Given the description of an element on the screen output the (x, y) to click on. 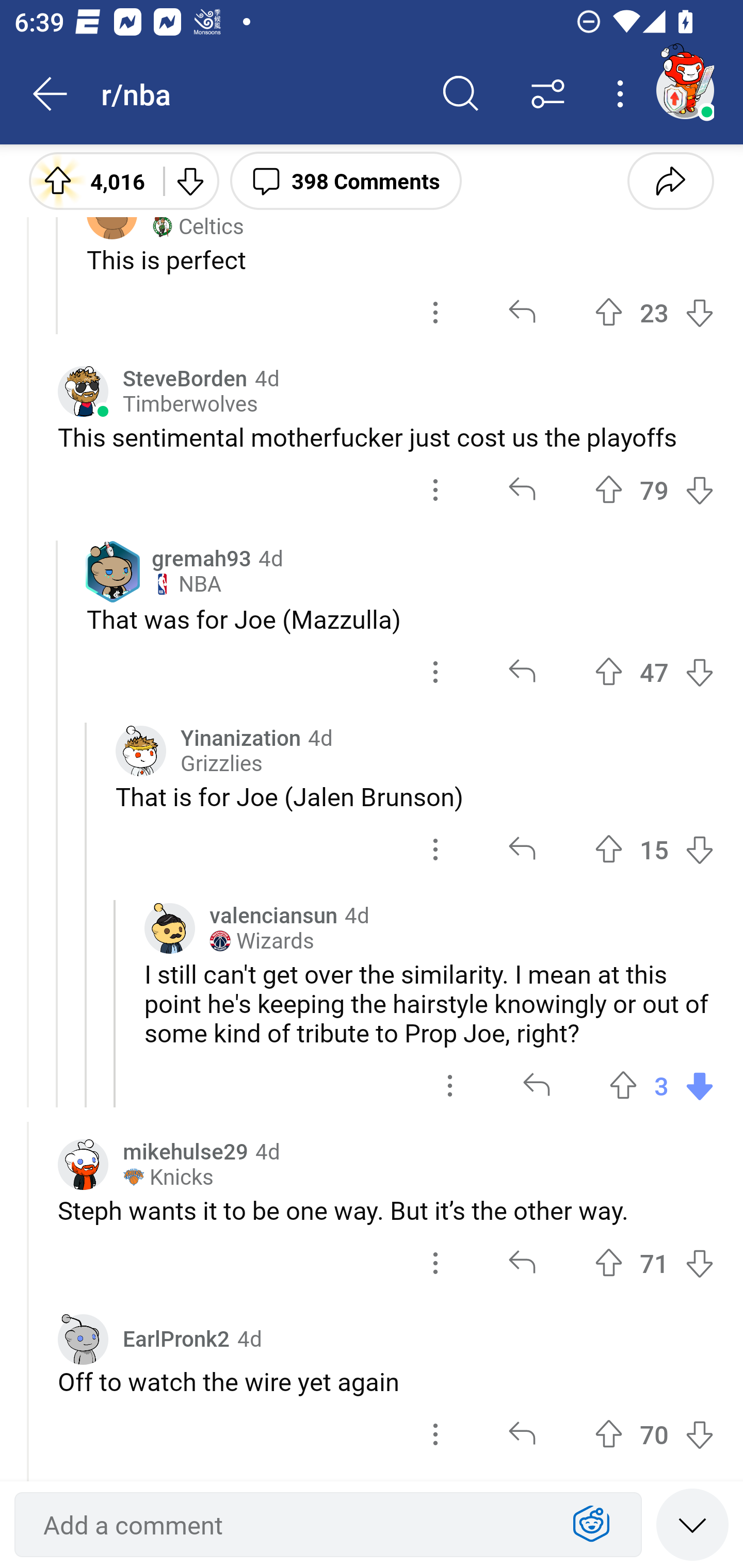
Back (50, 93)
TestAppium002 account (685, 90)
Search comments (460, 93)
Sort comments (547, 93)
More options (623, 93)
r/nba (259, 92)
Upvote 4,016 (88, 180)
Downvote (189, 180)
398 Comments (346, 180)
Share (670, 180)
￼ Celtics (197, 226)
This is perfect (400, 259)
options (435, 311)
Upvote 23 23 votes Downvote (654, 311)
Custom avatar (82, 391)
Timberwolves (190, 404)
options (435, 489)
Upvote 79 79 votes Downvote (654, 489)
￼ NBA (186, 583)
That was for Joe (Mazzulla) (400, 619)
options (435, 672)
Upvote 47 47 votes Downvote (654, 672)
Custom avatar (140, 750)
Grizzlies (221, 763)
That is for Joe (Jalen Brunson) (414, 796)
options (435, 849)
Upvote 15 15 votes Downvote (654, 849)
Custom avatar (169, 928)
￼ Wizards (261, 940)
options (449, 1084)
Upvote 3 3 votes Downvote (661, 1084)
Custom avatar (82, 1164)
￼ Knicks (167, 1177)
options (435, 1263)
Upvote 71 71 votes Downvote (654, 1263)
Custom avatar (82, 1338)
Off to watch the wire yet again (385, 1381)
options (435, 1434)
Upvote 70 70 votes Downvote (654, 1434)
Speed read (692, 1524)
Add a comment (291, 1524)
Show Expressions (590, 1524)
